Given the description of an element on the screen output the (x, y) to click on. 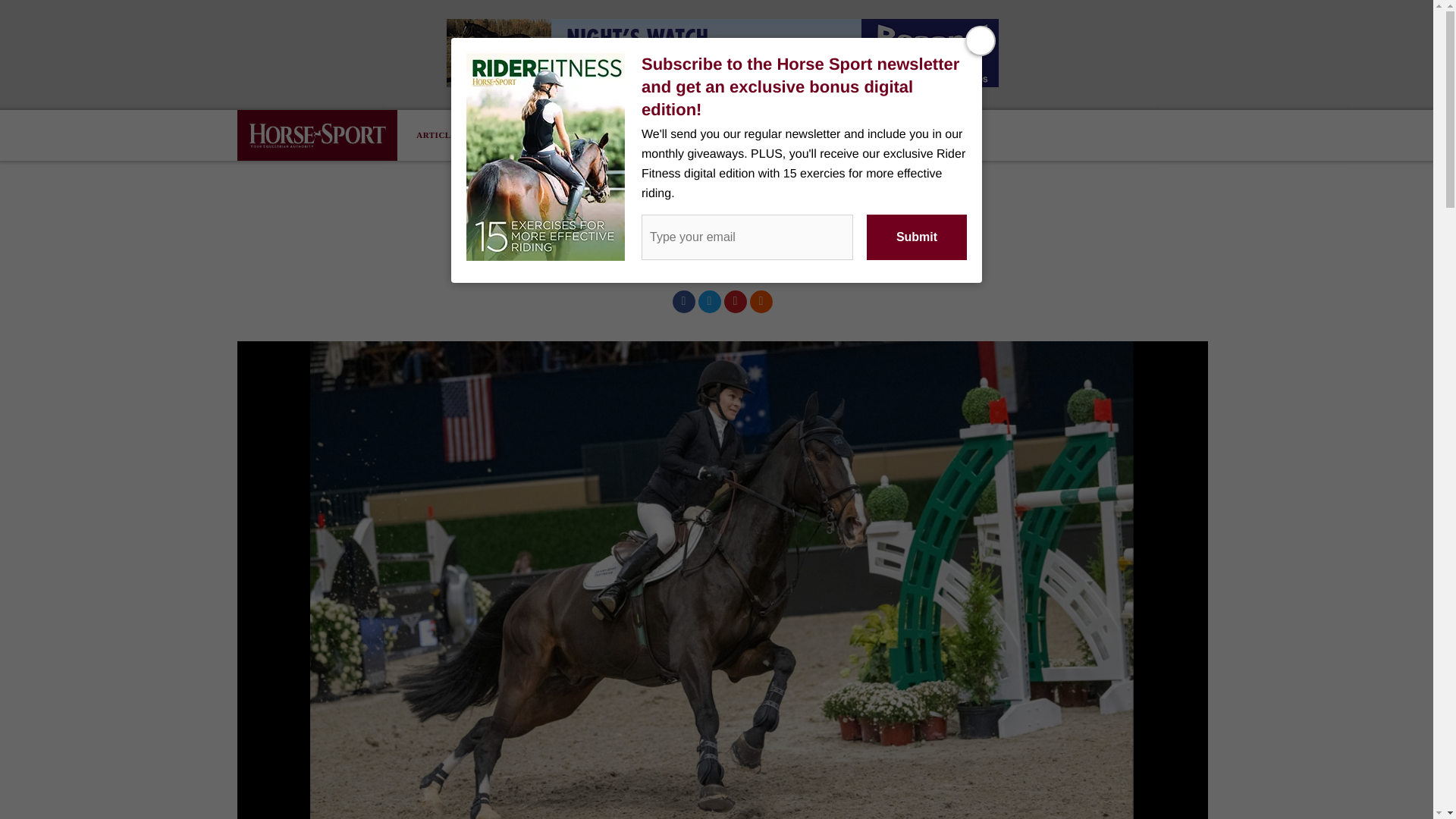
ARTICLES (450, 134)
SHOP (594, 134)
NEWSLETTER (527, 134)
STABLES (649, 134)
